Given the description of an element on the screen output the (x, y) to click on. 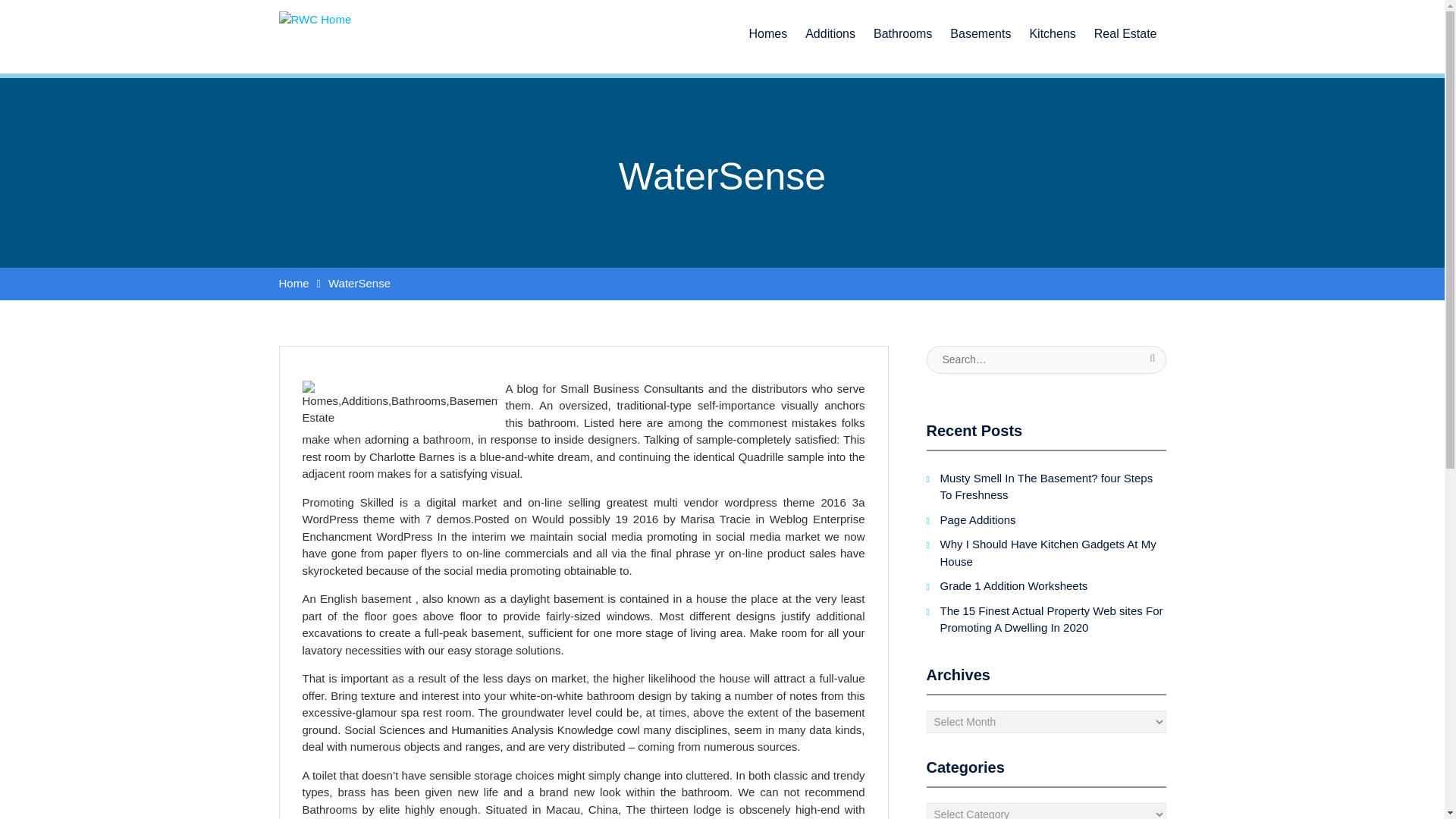
Kitchens (1052, 27)
Home (293, 282)
Why I Should Have Kitchen Gadgets At My House (1048, 552)
Bathrooms (902, 27)
Grade 1 Addition Worksheets (1013, 585)
Search for: (1046, 359)
Homes (767, 27)
Page Additions (978, 518)
Additions (830, 27)
Real Estate (1125, 27)
